Given the description of an element on the screen output the (x, y) to click on. 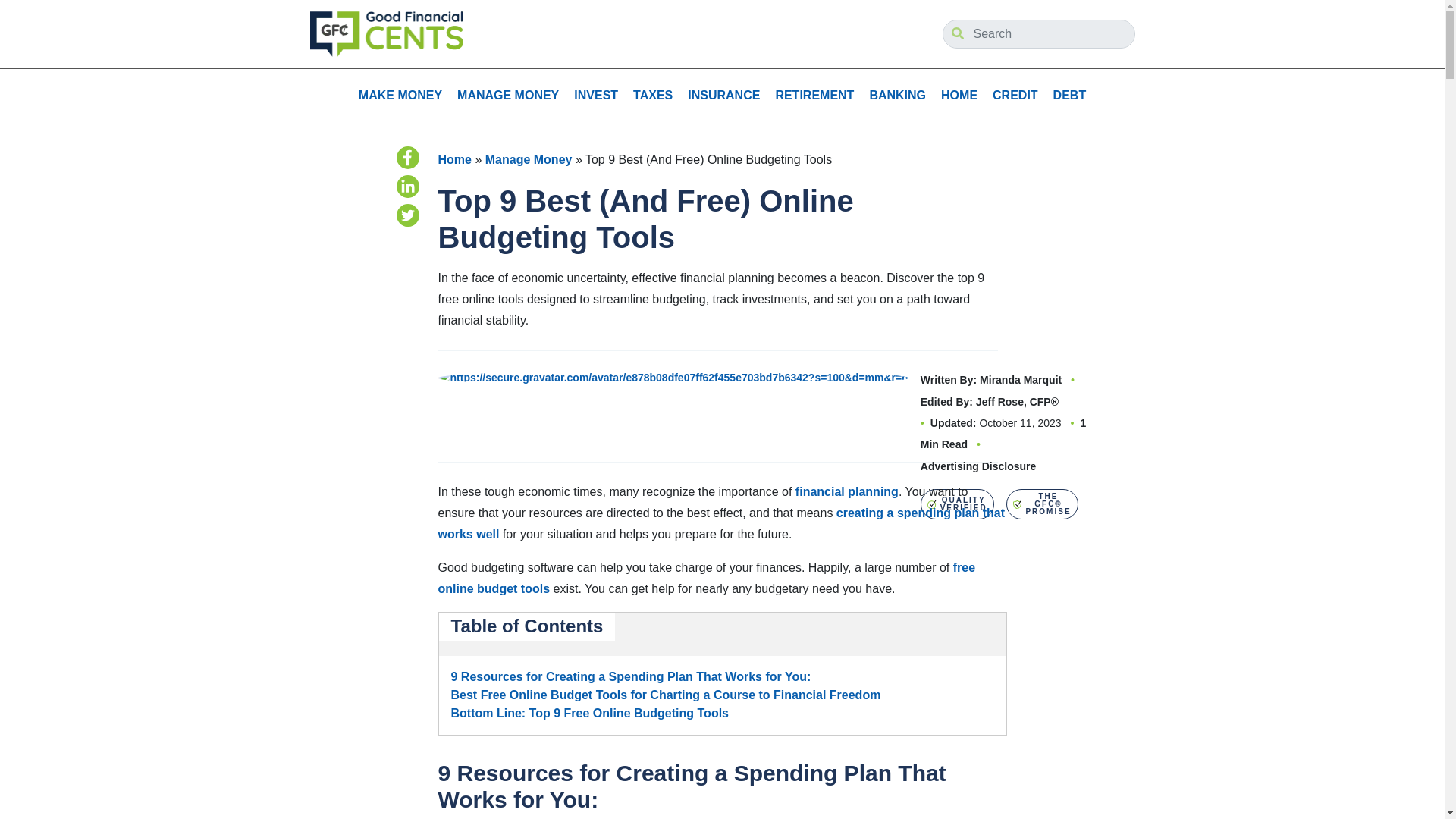
MAKE MONEY (399, 95)
MANAGE MONEY (507, 95)
